Given the description of an element on the screen output the (x, y) to click on. 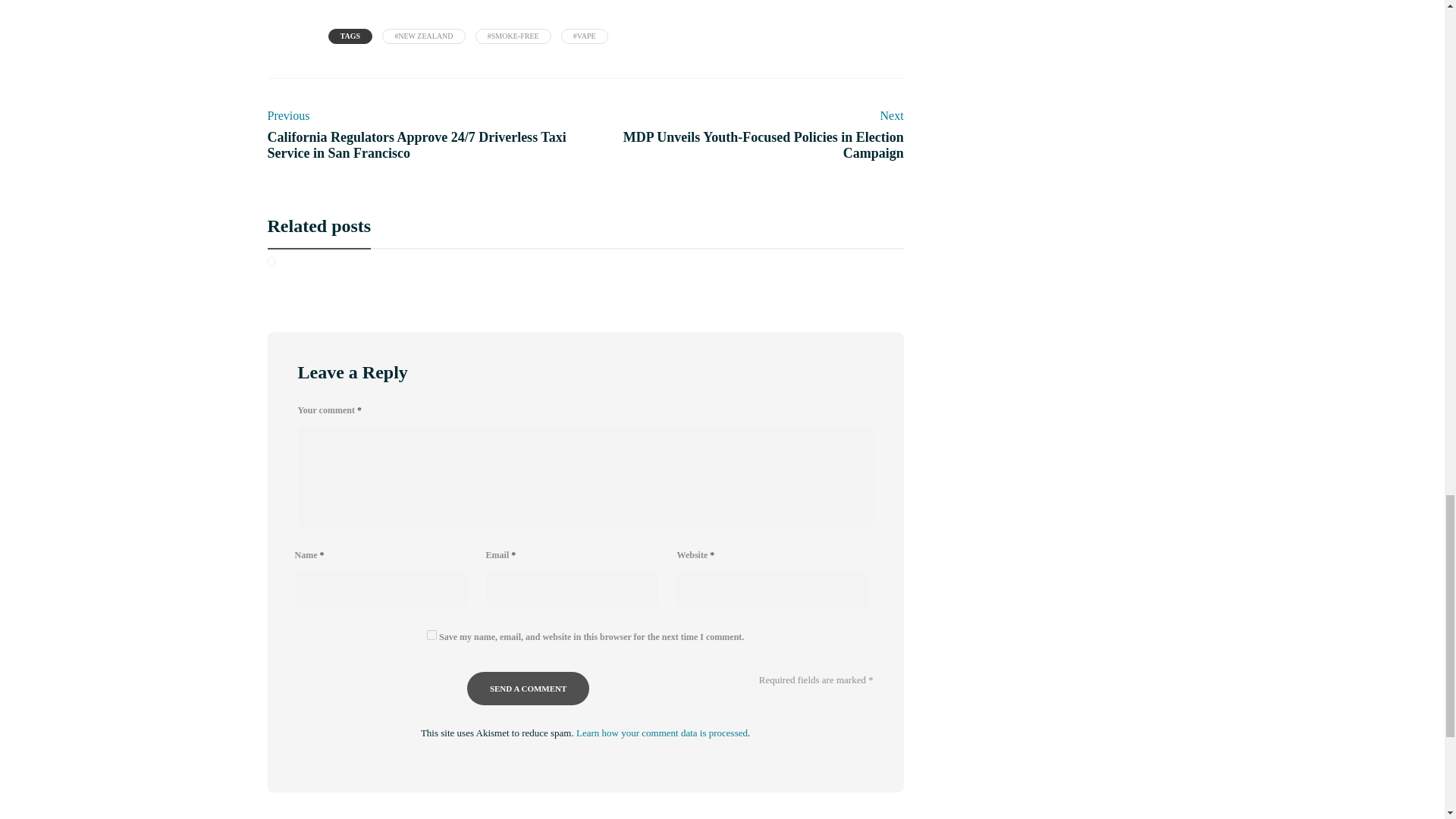
TAGS (349, 36)
Send a comment (528, 688)
yes (431, 634)
